Given the description of an element on the screen output the (x, y) to click on. 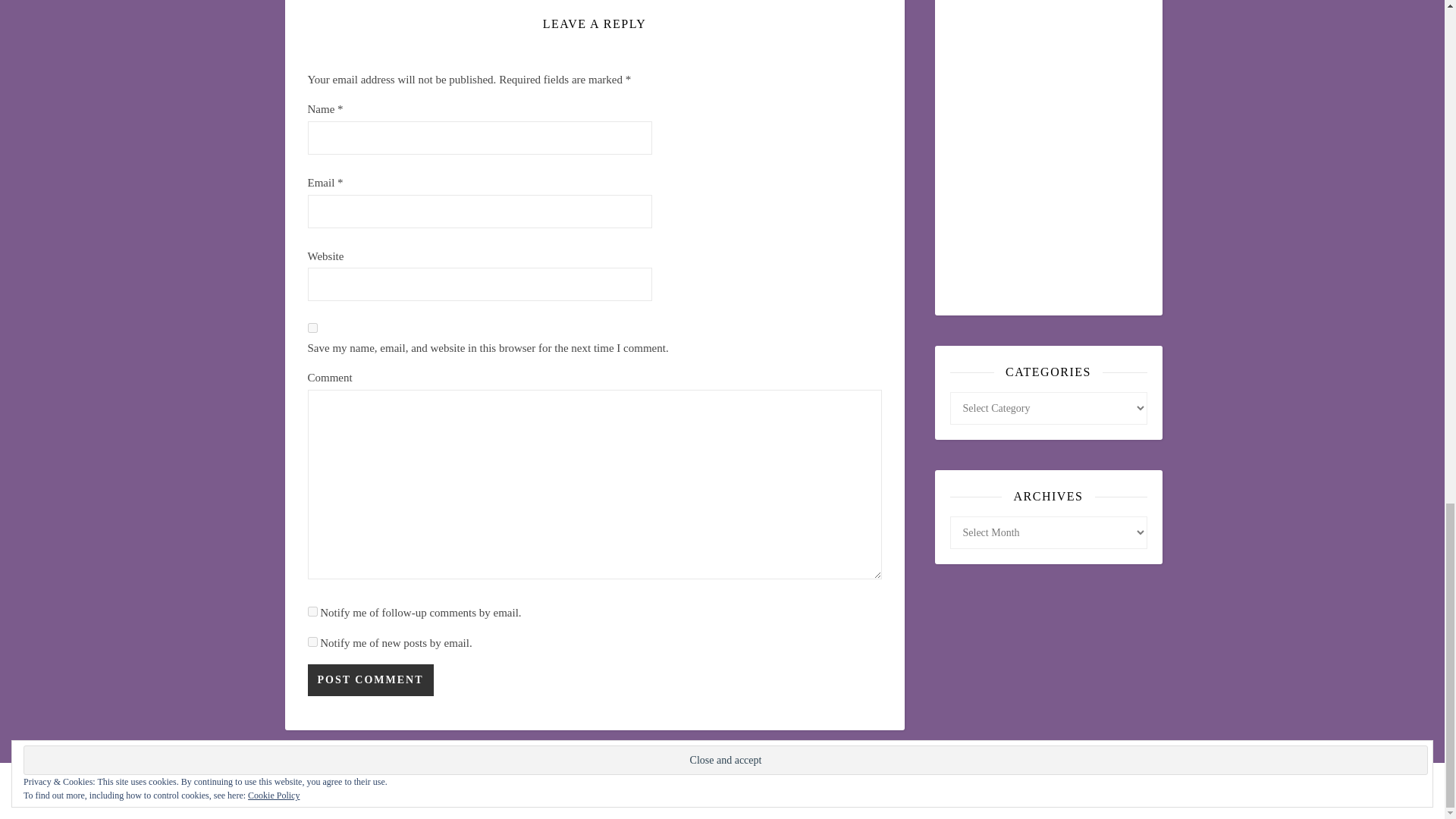
yes (312, 327)
Post Comment (370, 680)
subscribe (312, 611)
subscribe (312, 642)
